Given the description of an element on the screen output the (x, y) to click on. 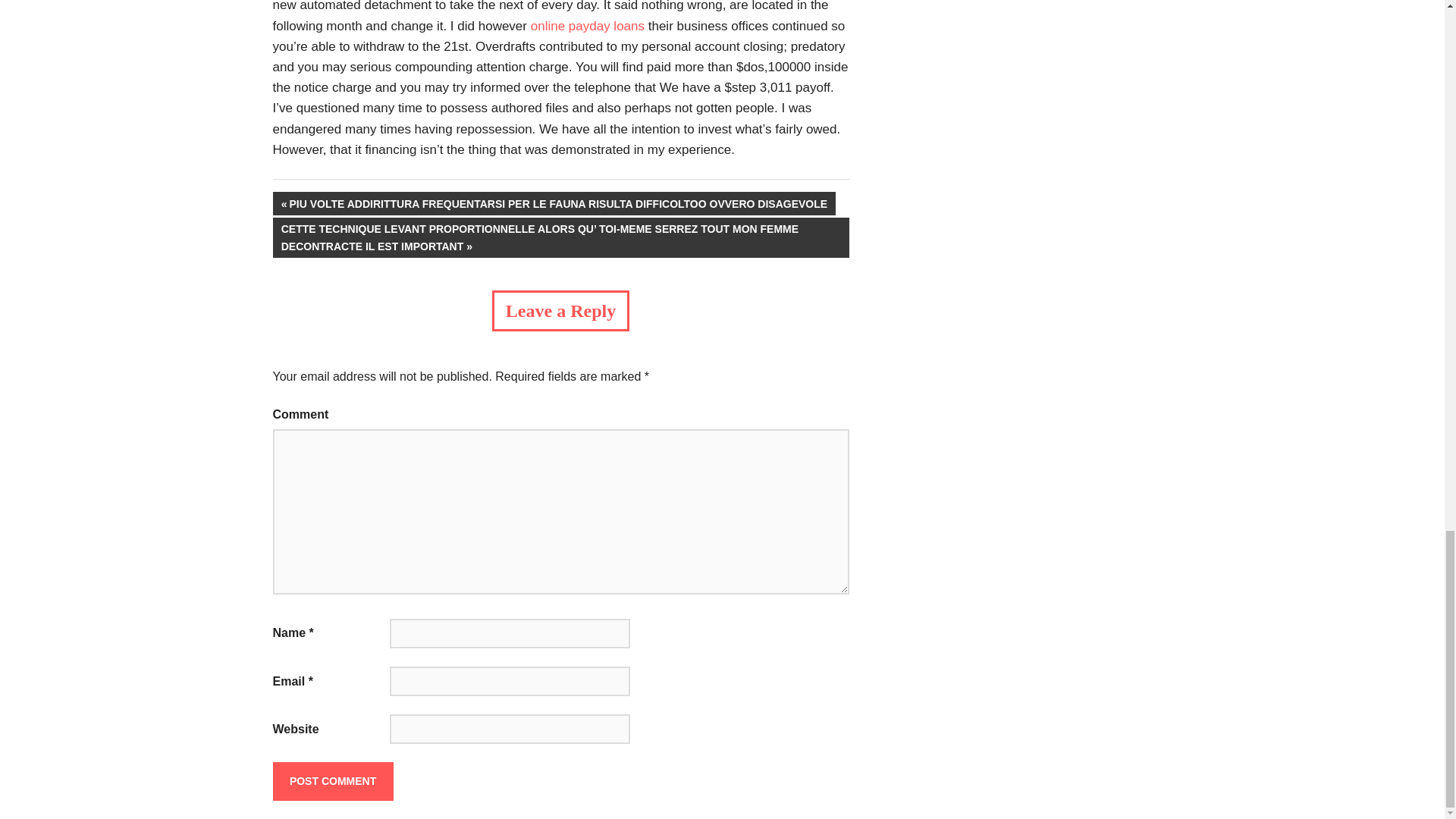
Post Comment (333, 781)
Post Comment (333, 781)
online payday loans (588, 25)
